Given the description of an element on the screen output the (x, y) to click on. 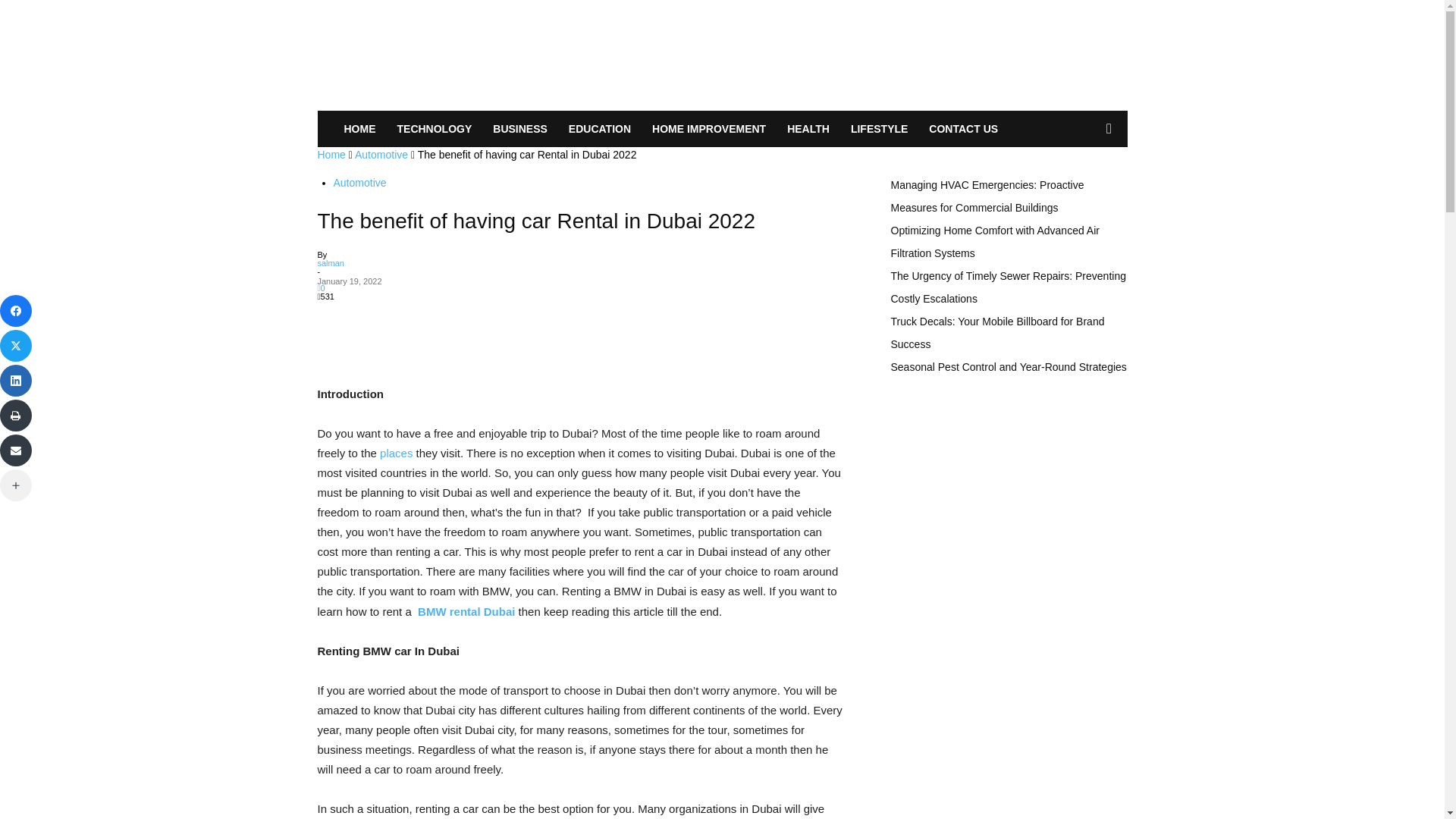
Search (1085, 189)
Automotive (381, 154)
salman (330, 261)
HOME IMPROVEMENT (709, 128)
TECHNOLOGY (435, 128)
HOME (360, 128)
EDUCATION (599, 128)
CONTACT US (963, 128)
View all posts in Automotive (381, 154)
HEALTH (808, 128)
